Given the description of an element on the screen output the (x, y) to click on. 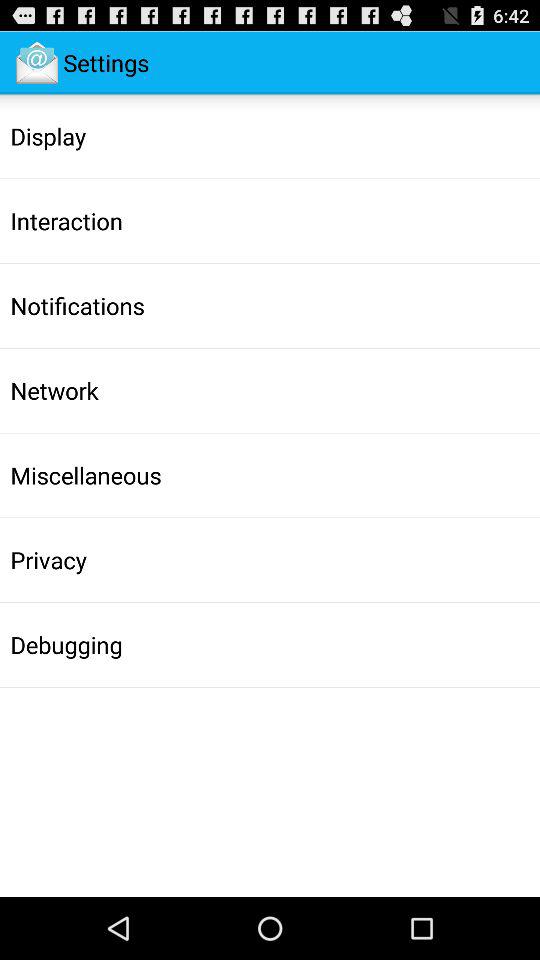
turn off the privacy (48, 560)
